Given the description of an element on the screen output the (x, y) to click on. 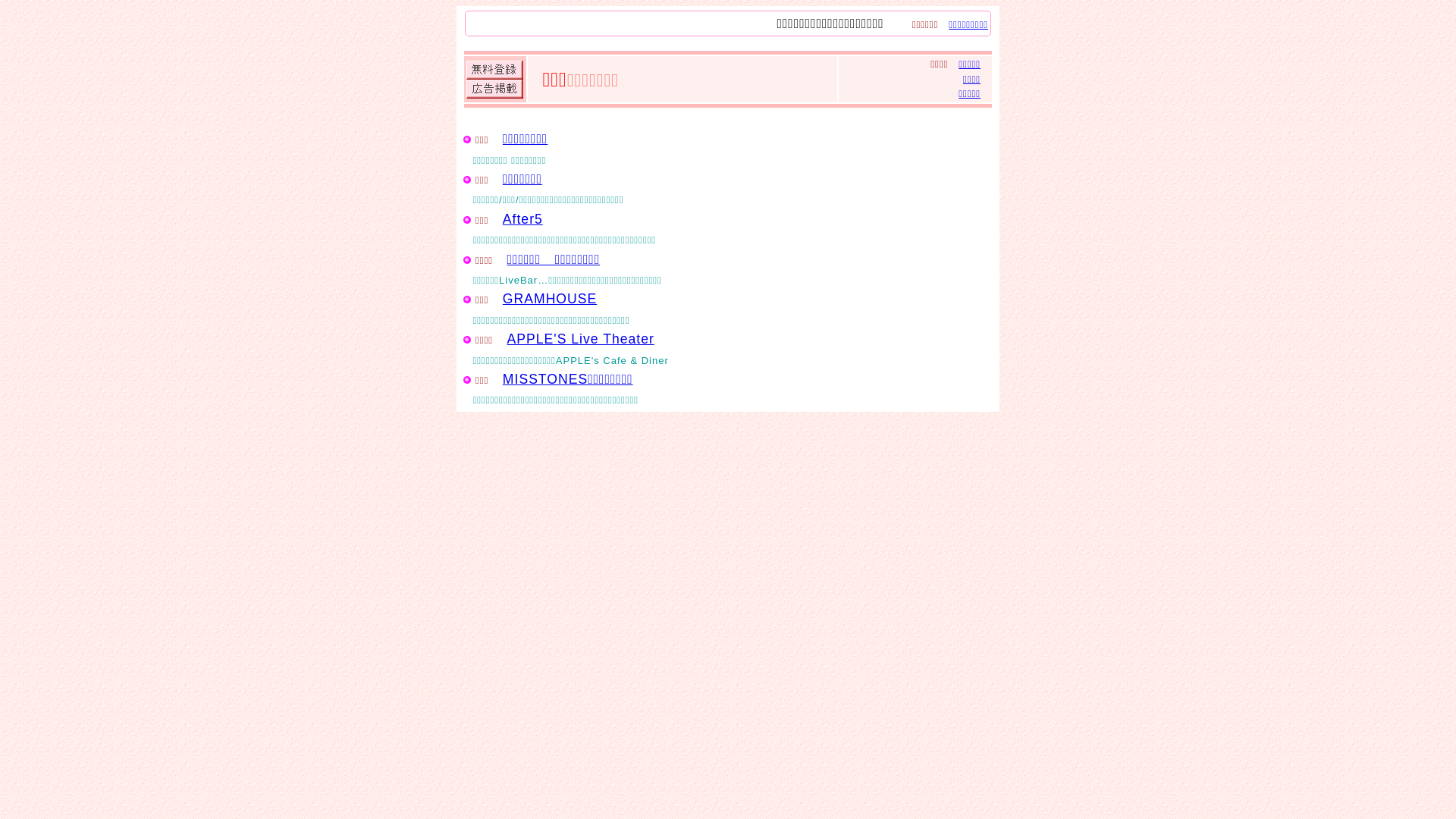
APPLE'S Live Theater Element type: text (580, 338)
GRAMHOUSE Element type: text (549, 298)
After5 Element type: text (522, 218)
